Given the description of an element on the screen output the (x, y) to click on. 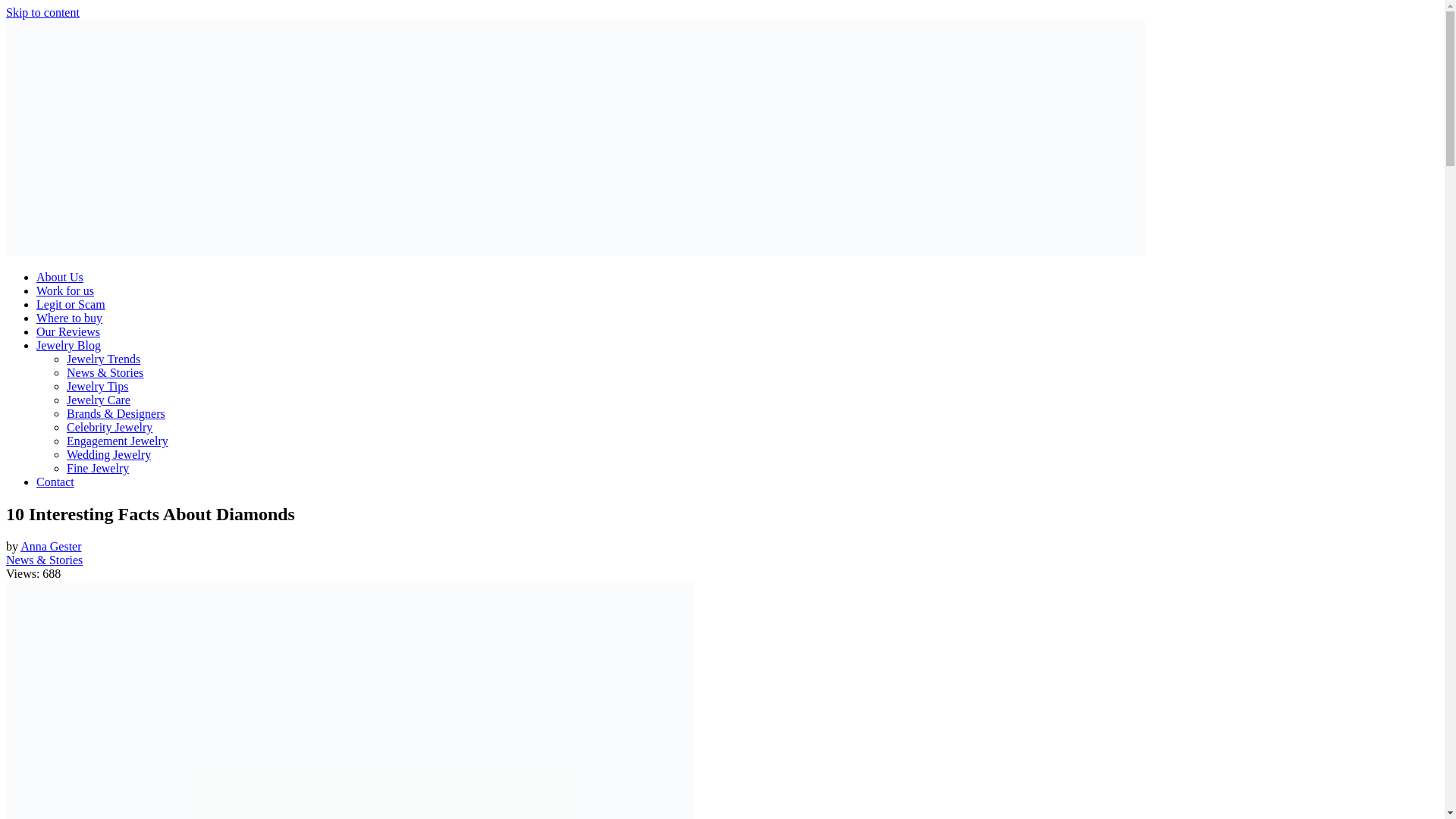
About Us (59, 277)
Fine Jewelry (97, 468)
Anna Gester (50, 545)
Jewelry Tips (97, 386)
Engagement Jewelry (117, 440)
Work for us (65, 290)
Where to buy (68, 318)
Posts by Anna Gester (50, 545)
Legit or Scam (70, 304)
Celebrity Jewelry (109, 427)
Wedding Jewelry (108, 454)
Our Reviews (68, 331)
Jewelry Blog (68, 345)
Skip to content (42, 11)
Jewelry Trends (102, 358)
